Given the description of an element on the screen output the (x, y) to click on. 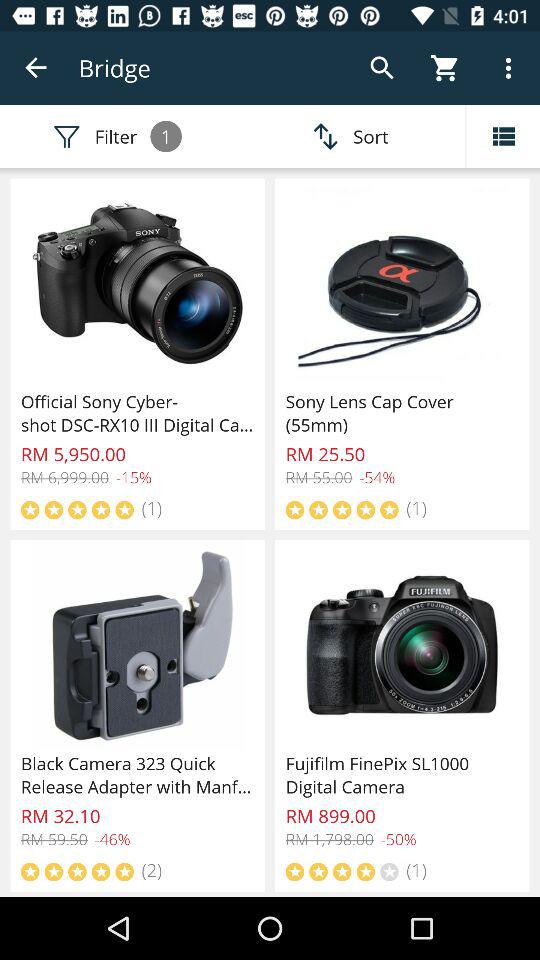
filter (503, 136)
